Given the description of an element on the screen output the (x, y) to click on. 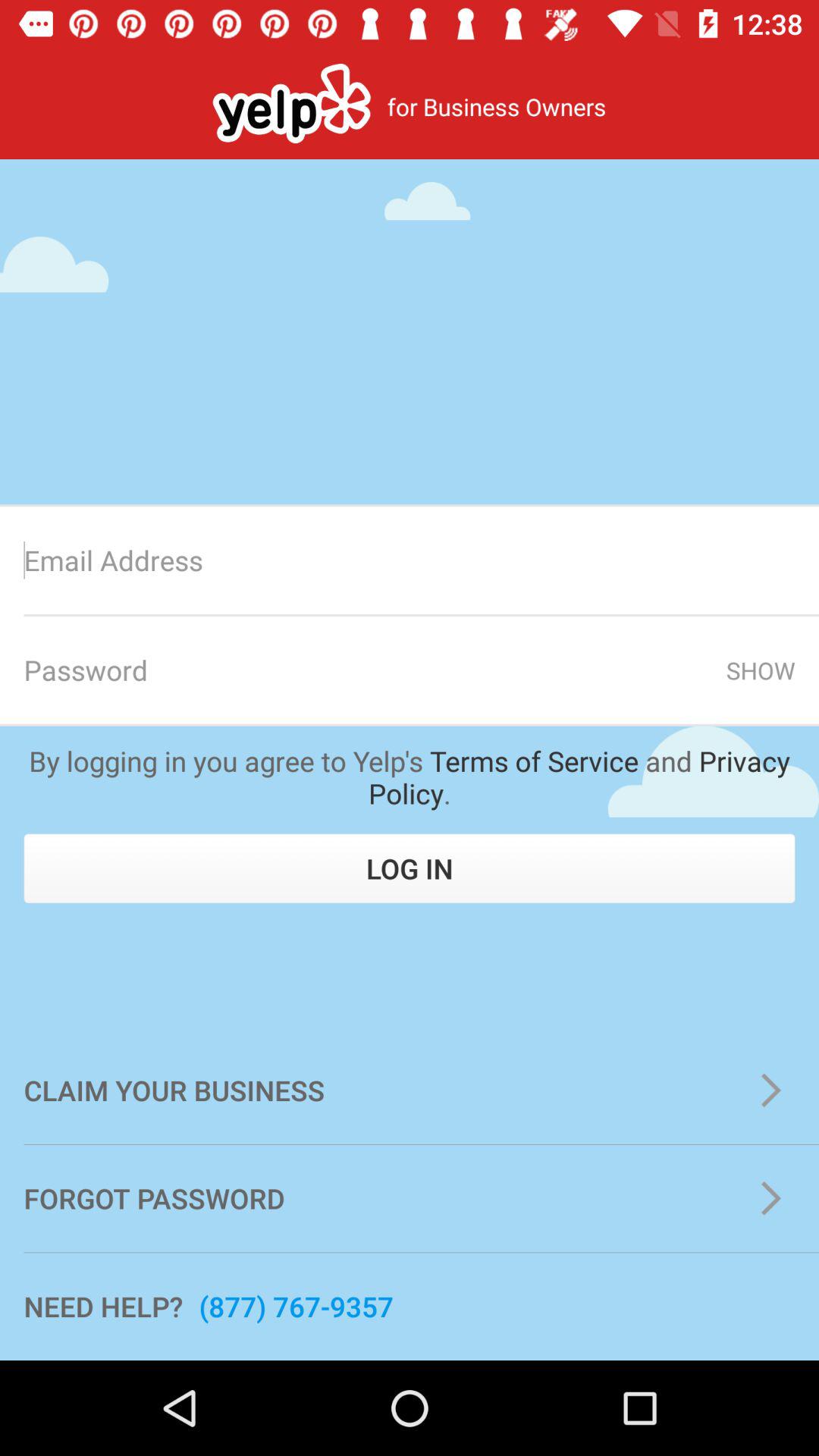
choose icon below log in (409, 1090)
